Given the description of an element on the screen output the (x, y) to click on. 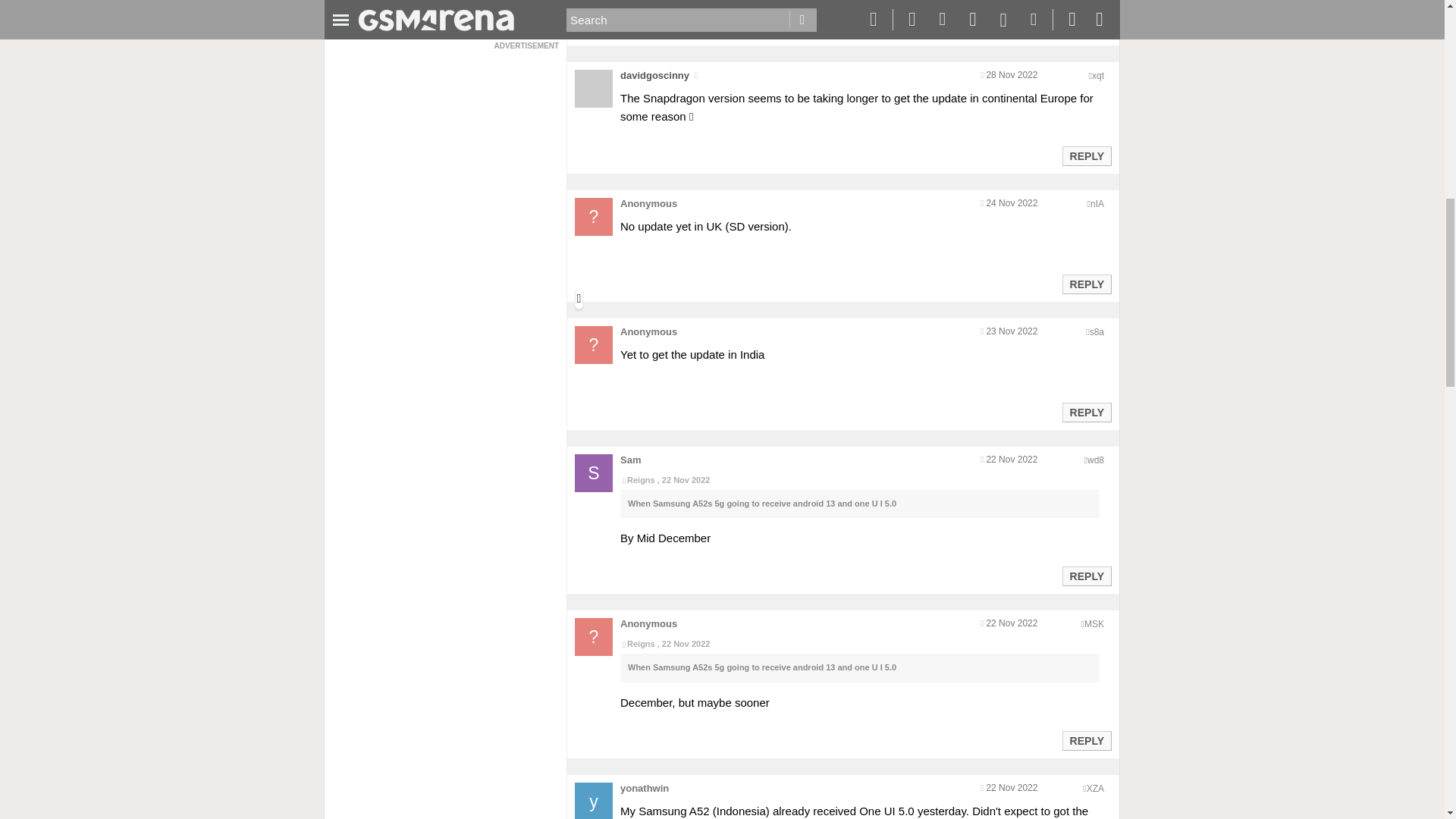
Encoded anonymized location (1095, 460)
Reply to this post (1086, 28)
Reply to this post (1086, 155)
Reply to this post (1086, 284)
Encoded anonymized location (1093, 624)
Encoded anonymized location (1097, 75)
Reply to this post (1086, 412)
Reply to this post (1086, 576)
Encoded anonymized location (1096, 331)
Encoded anonymized location (1096, 204)
